Given the description of an element on the screen output the (x, y) to click on. 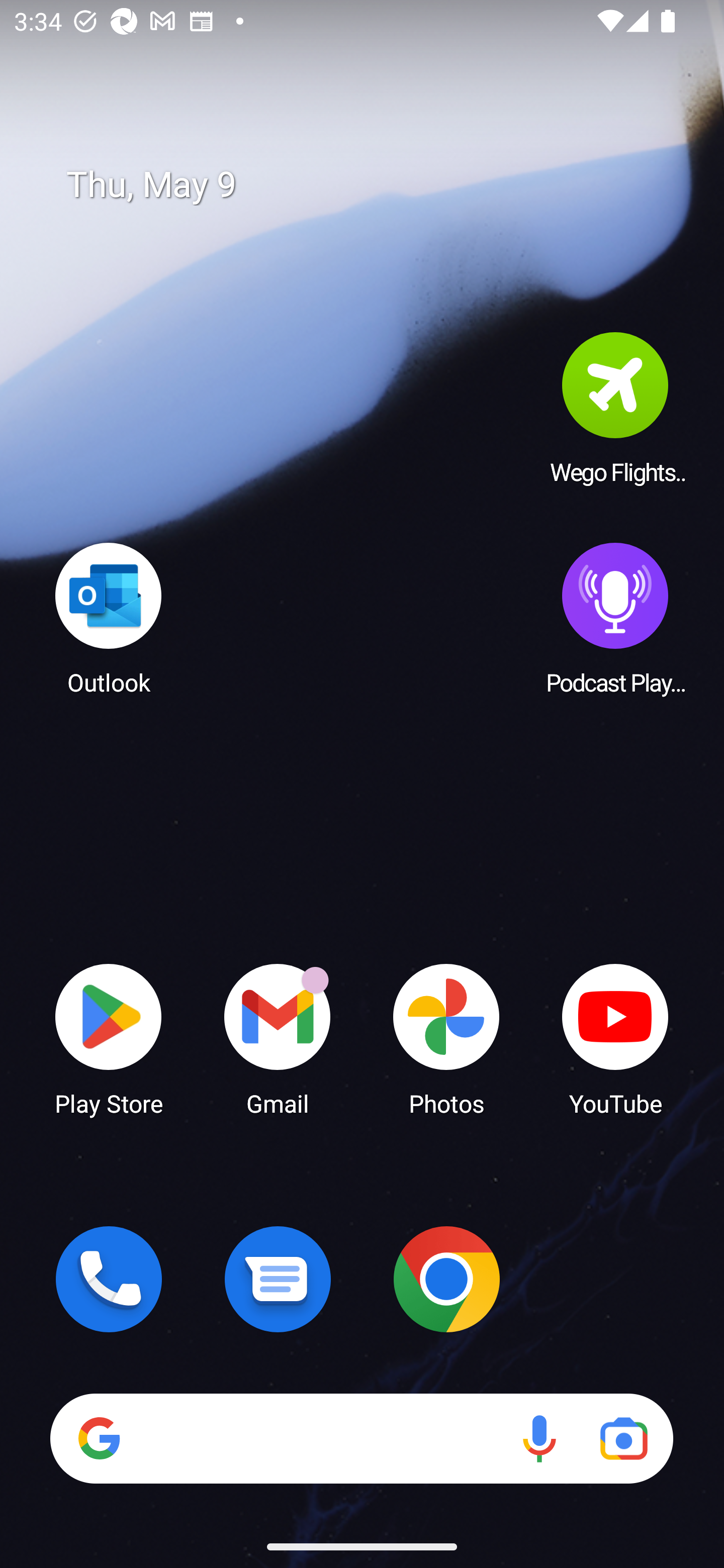
Thu, May 9 (375, 184)
Wego Flights & Hotels (615, 407)
Outlook (108, 617)
Podcast Player (615, 617)
Play Store (108, 1038)
Gmail Gmail has 18 notifications (277, 1038)
Photos (445, 1038)
YouTube (615, 1038)
Phone (108, 1279)
Messages (277, 1279)
Chrome (446, 1279)
Search Voice search Google Lens (361, 1438)
Voice search (539, 1438)
Google Lens (623, 1438)
